Given the description of an element on the screen output the (x, y) to click on. 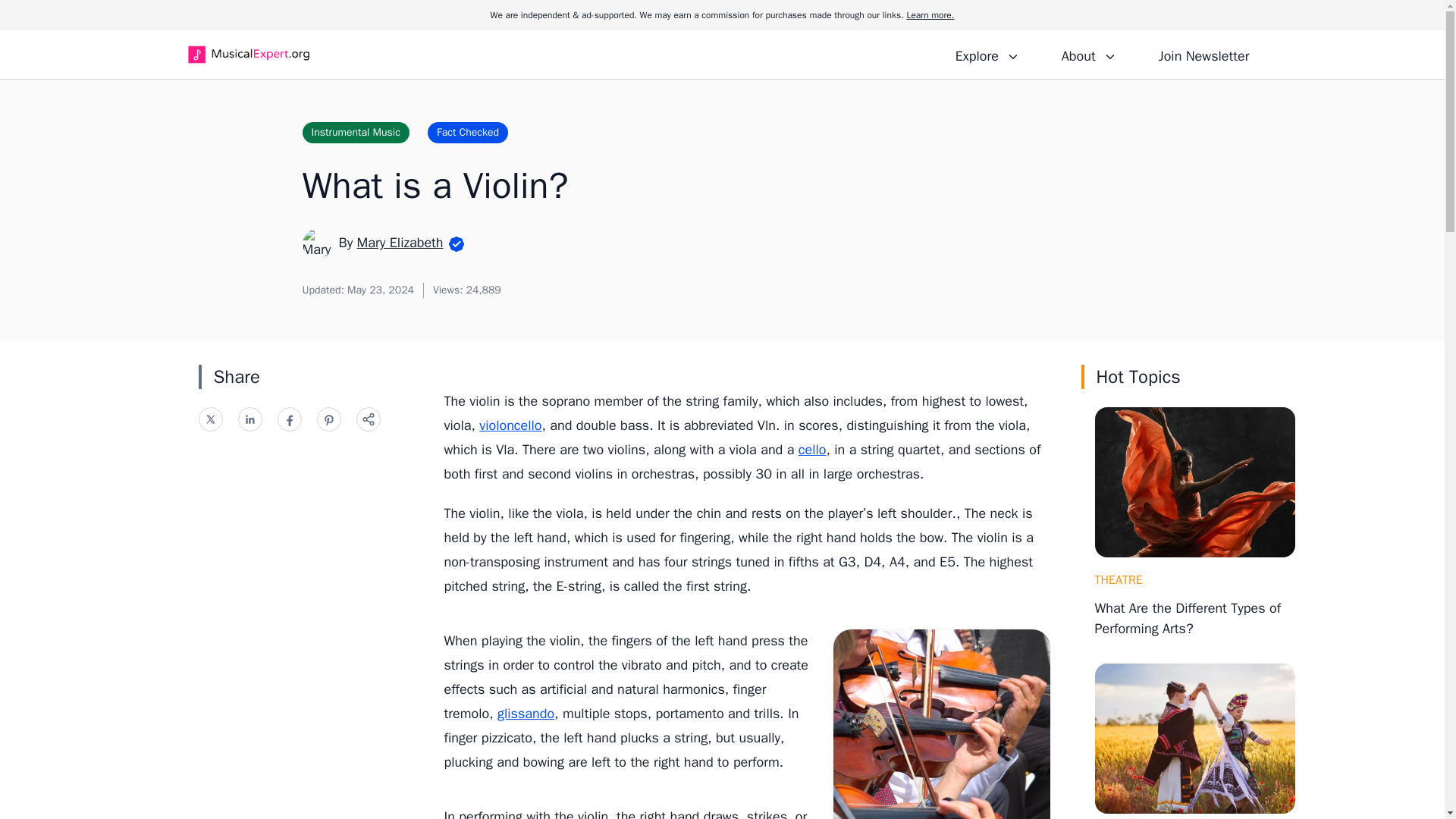
Fact Checked (468, 132)
Instrumental Music (355, 132)
Mary Elizabeth (400, 242)
Learn more. (929, 15)
Explore (986, 54)
About (1088, 54)
Join Newsletter (1202, 54)
